Given the description of an element on the screen output the (x, y) to click on. 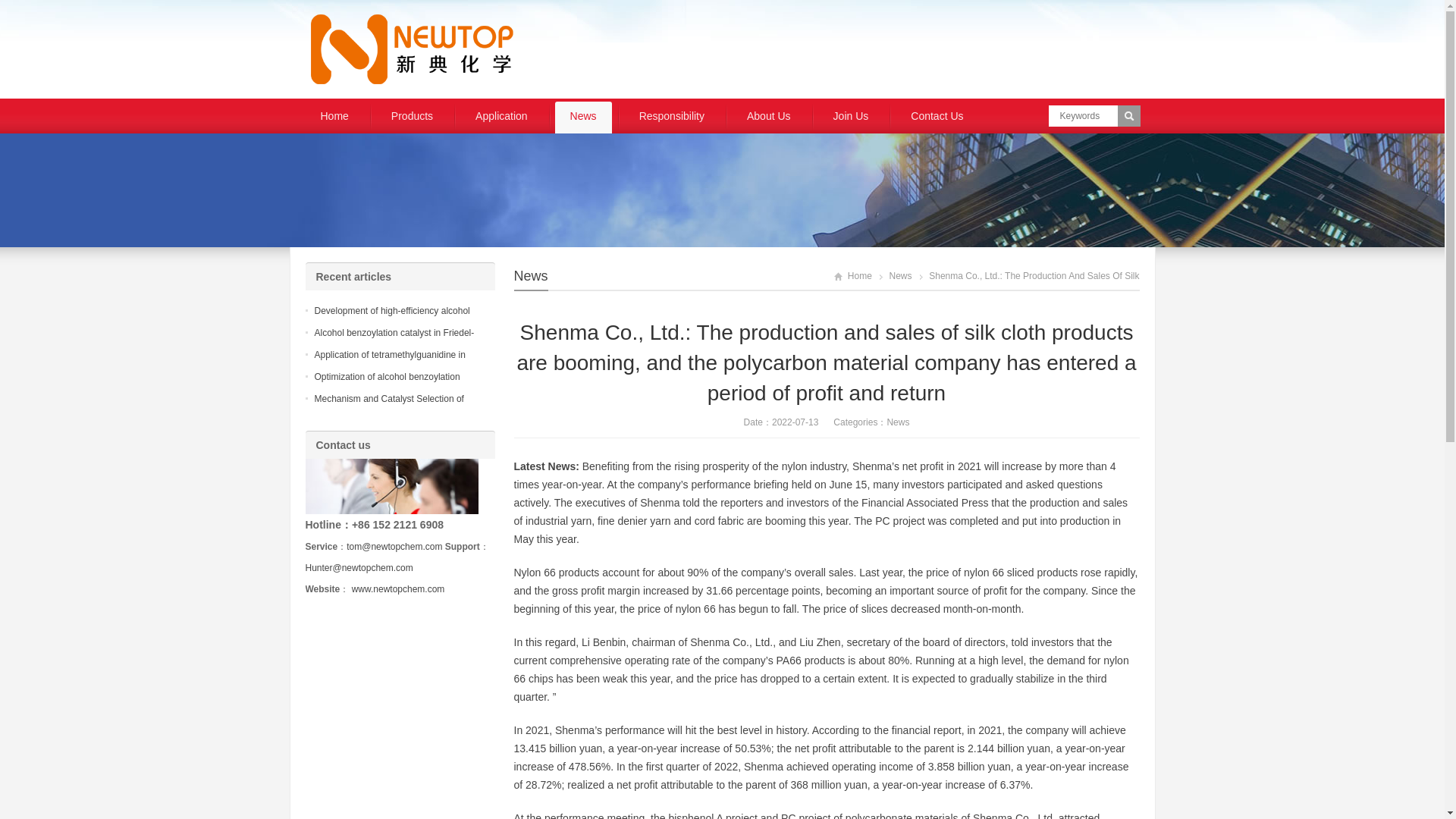
News (900, 276)
Home (333, 117)
Mechanism and Catalyst Selection of Benzoylation of Alcohols (388, 407)
News (582, 117)
Search (1129, 115)
Products (411, 117)
About Us (769, 117)
Search (1129, 115)
